Given the description of an element on the screen output the (x, y) to click on. 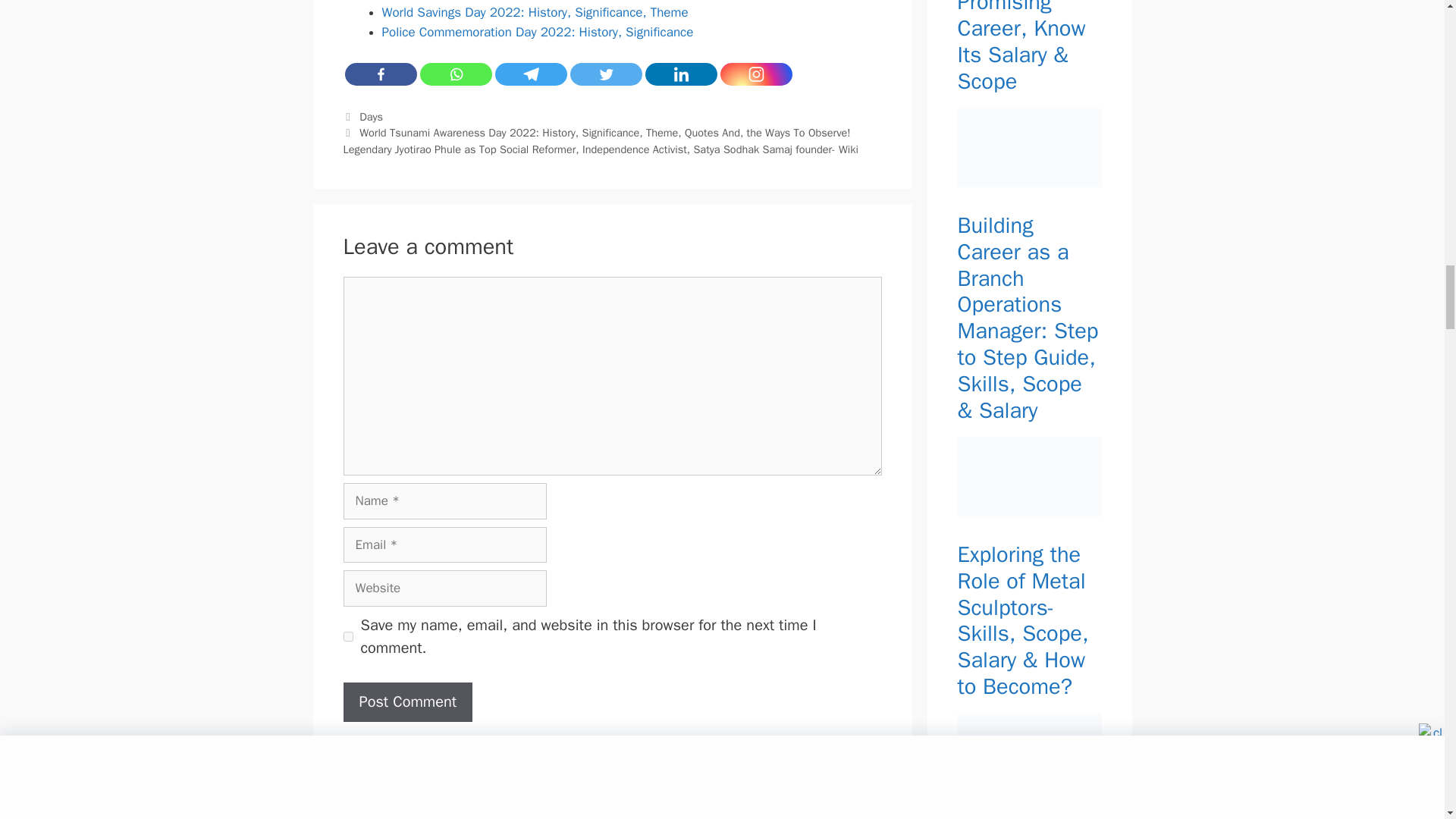
Twitter (606, 74)
Instagram (756, 74)
Linkedin (680, 74)
Facebook (379, 74)
yes (347, 636)
Post Comment (406, 701)
Post Comment (406, 701)
Days (370, 116)
Whatsapp (456, 74)
Police Commemoration Day 2022: History, Significance (537, 32)
World Savings Day 2022: History, Significance, Theme (534, 12)
Telegram (530, 74)
